Given the description of an element on the screen output the (x, y) to click on. 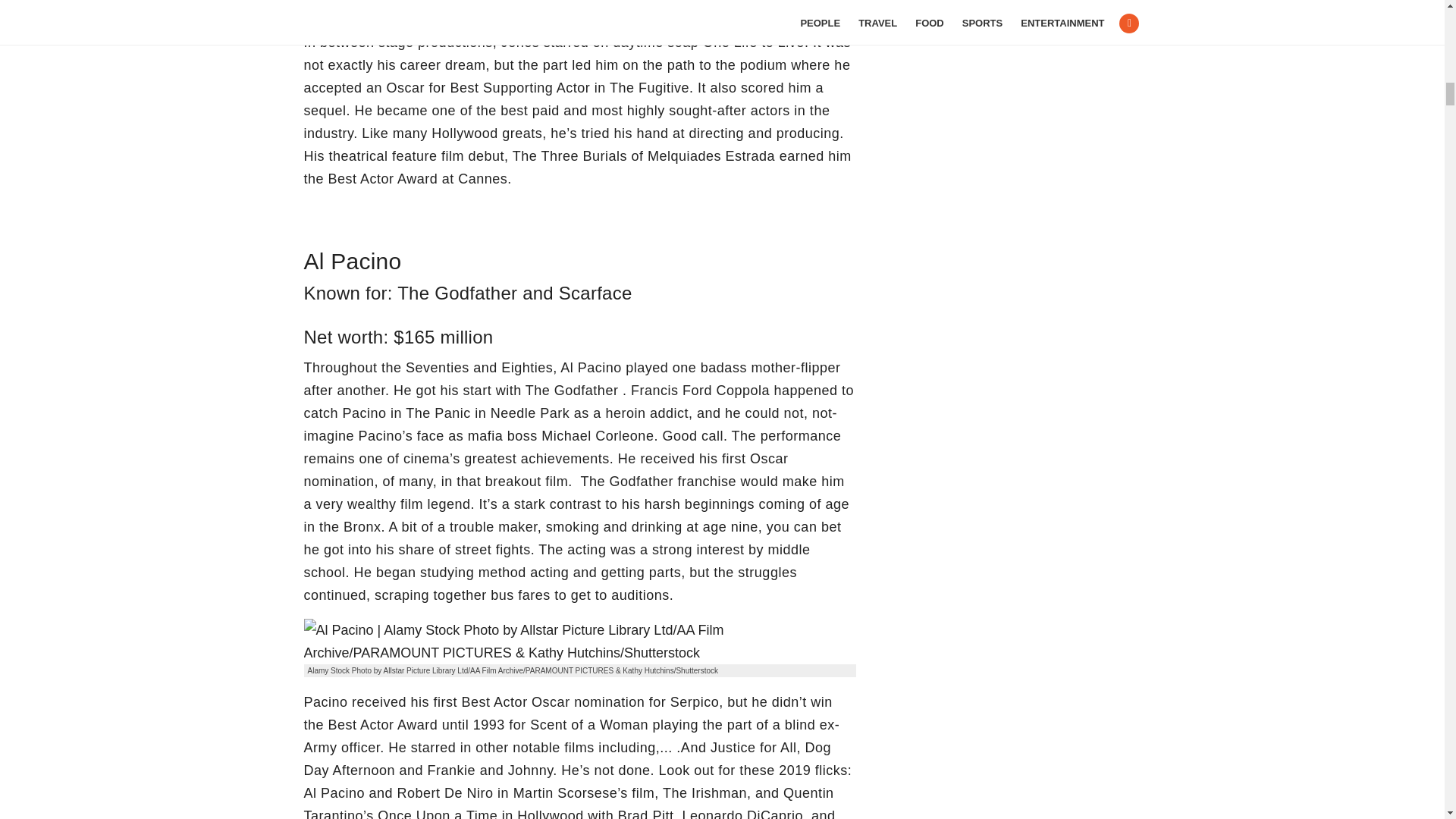
Al Pacino (579, 641)
